Given the description of an element on the screen output the (x, y) to click on. 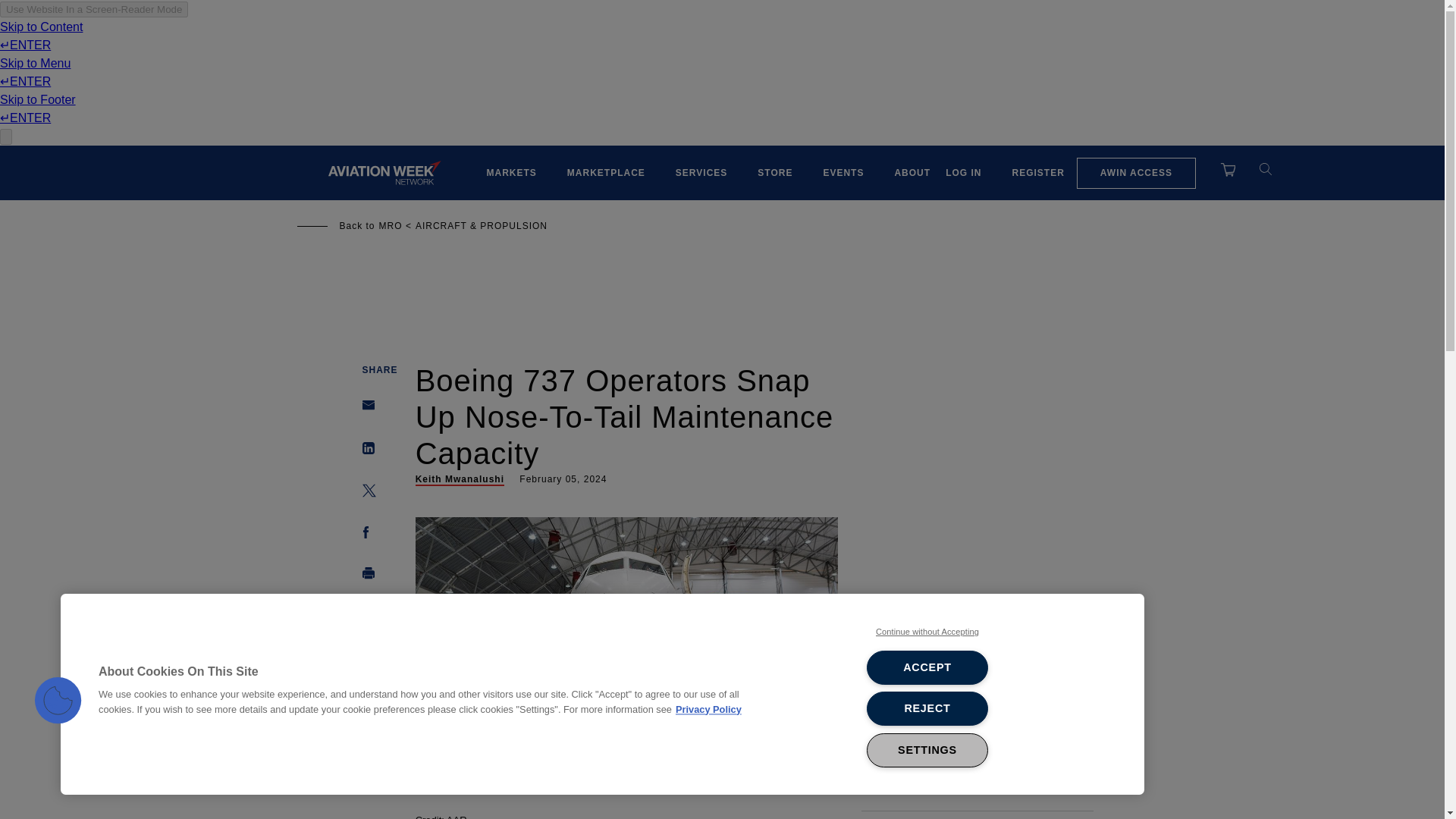
3rd party ad content (976, 481)
MARKETS (511, 172)
Cookies Button (57, 700)
3rd party ad content (721, 291)
